Given the description of an element on the screen output the (x, y) to click on. 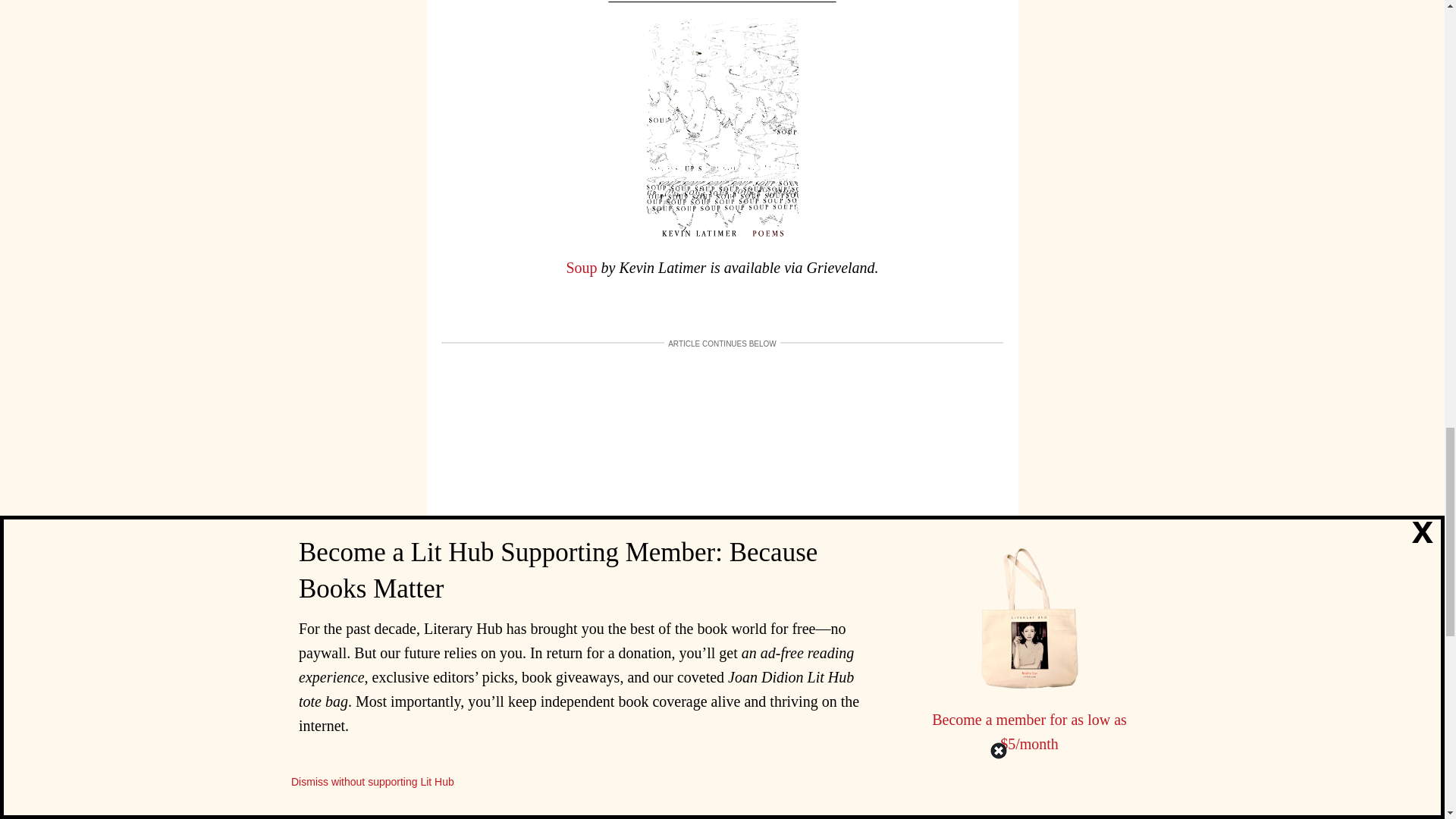
Share on Facebook (879, 655)
Click to share on Twitter (909, 655)
